Given the description of an element on the screen output the (x, y) to click on. 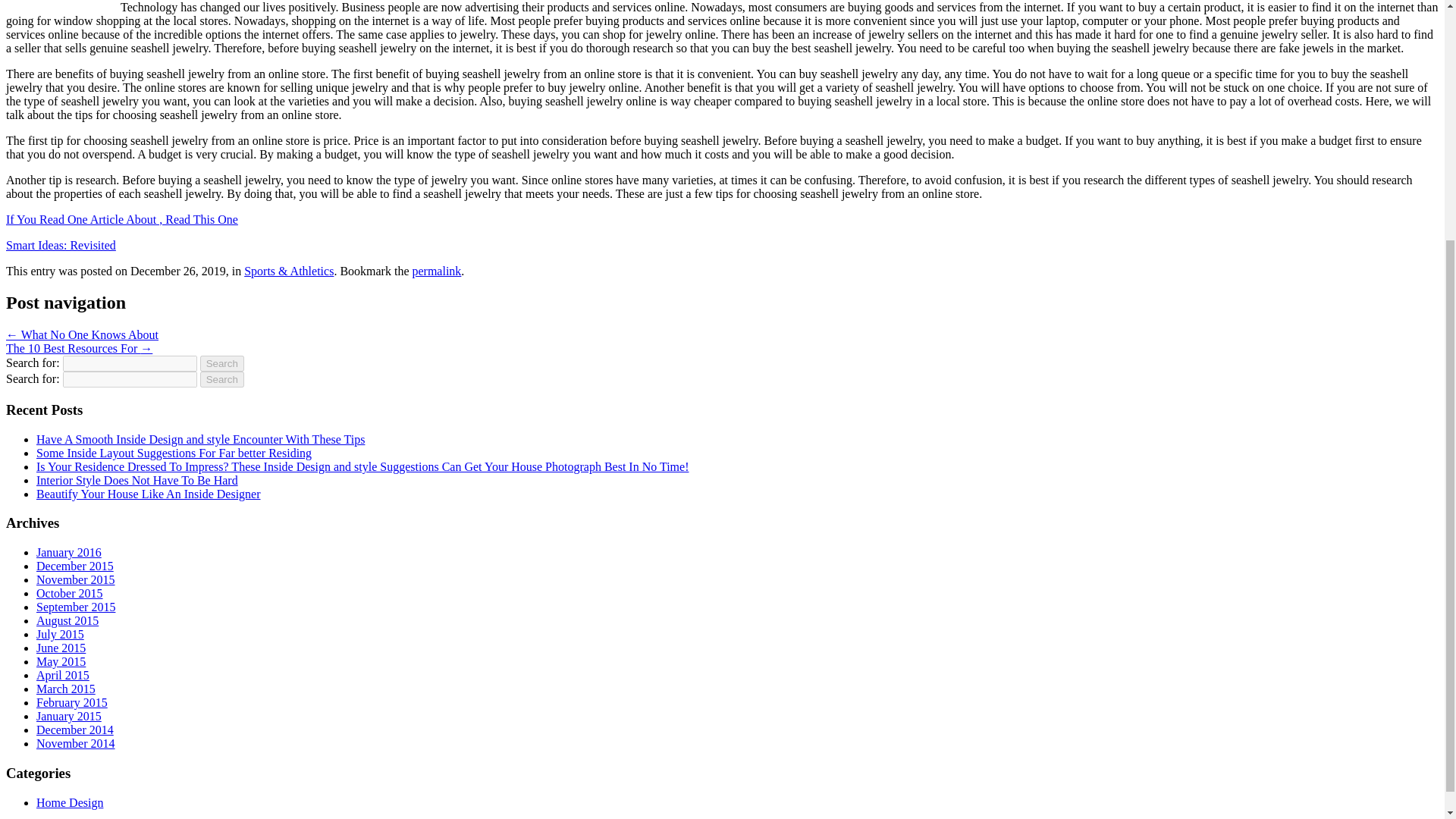
Beautify Your House Like An Inside Designer (148, 493)
December 2014 (74, 729)
December 2015 (74, 565)
Home Design (69, 802)
July 2015 (60, 634)
permalink (436, 269)
August 2015 (67, 620)
May 2015 (60, 661)
Search (222, 379)
November 2015 (75, 579)
March 2015 (66, 688)
Search (222, 363)
Permalink to Smart Ideas:  Revisited (436, 269)
April 2015 (62, 675)
